Given the description of an element on the screen output the (x, y) to click on. 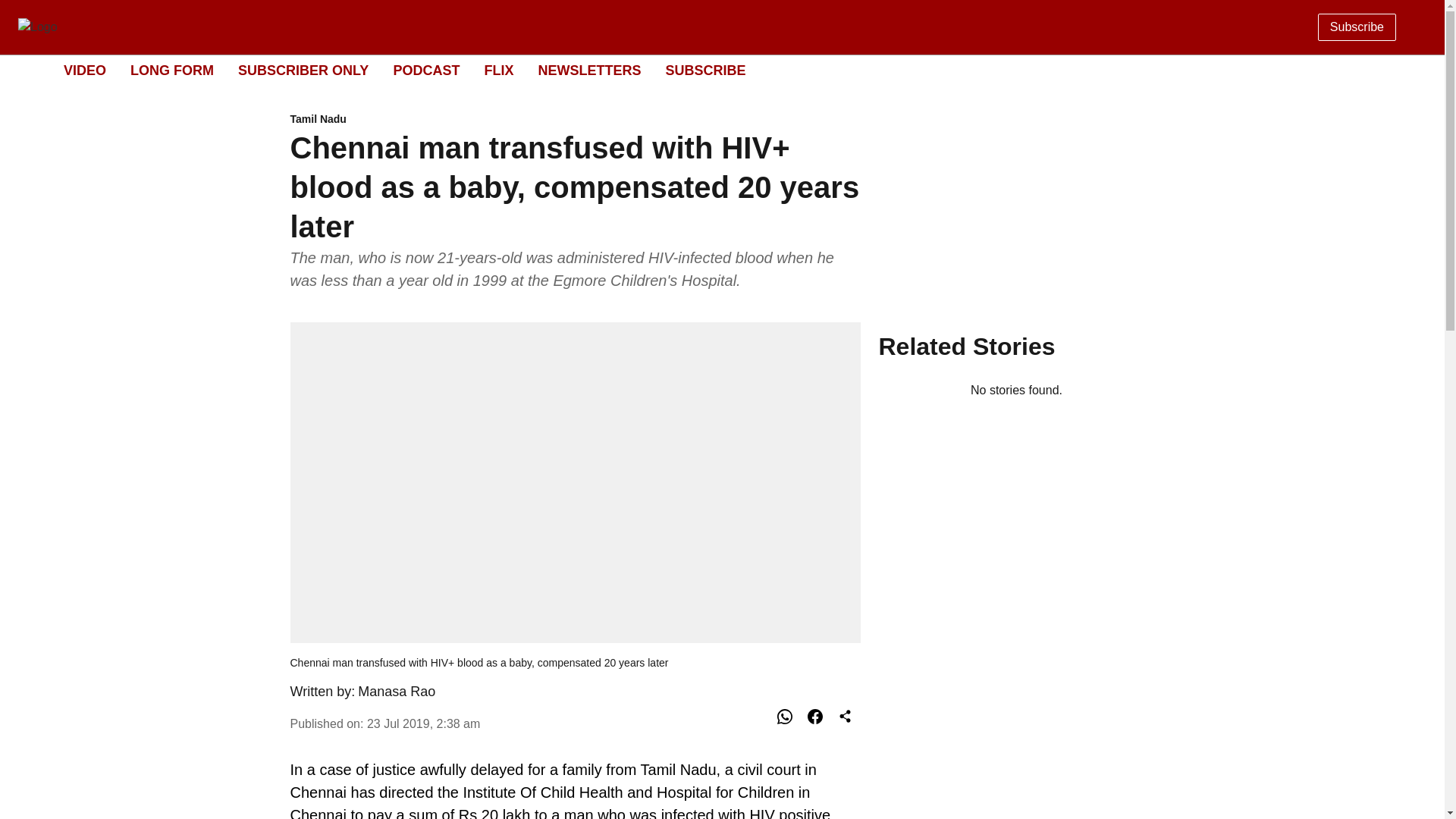
NEWSLETTERS (588, 70)
PODCAST (426, 70)
Manasa Rao (396, 691)
Tamil Nadu (574, 119)
FLIX (498, 70)
SUBSCRIBE (705, 70)
SUBSCRIBER ONLY (303, 70)
LONG FORM (172, 70)
VIDEO (85, 70)
